Given the description of an element on the screen output the (x, y) to click on. 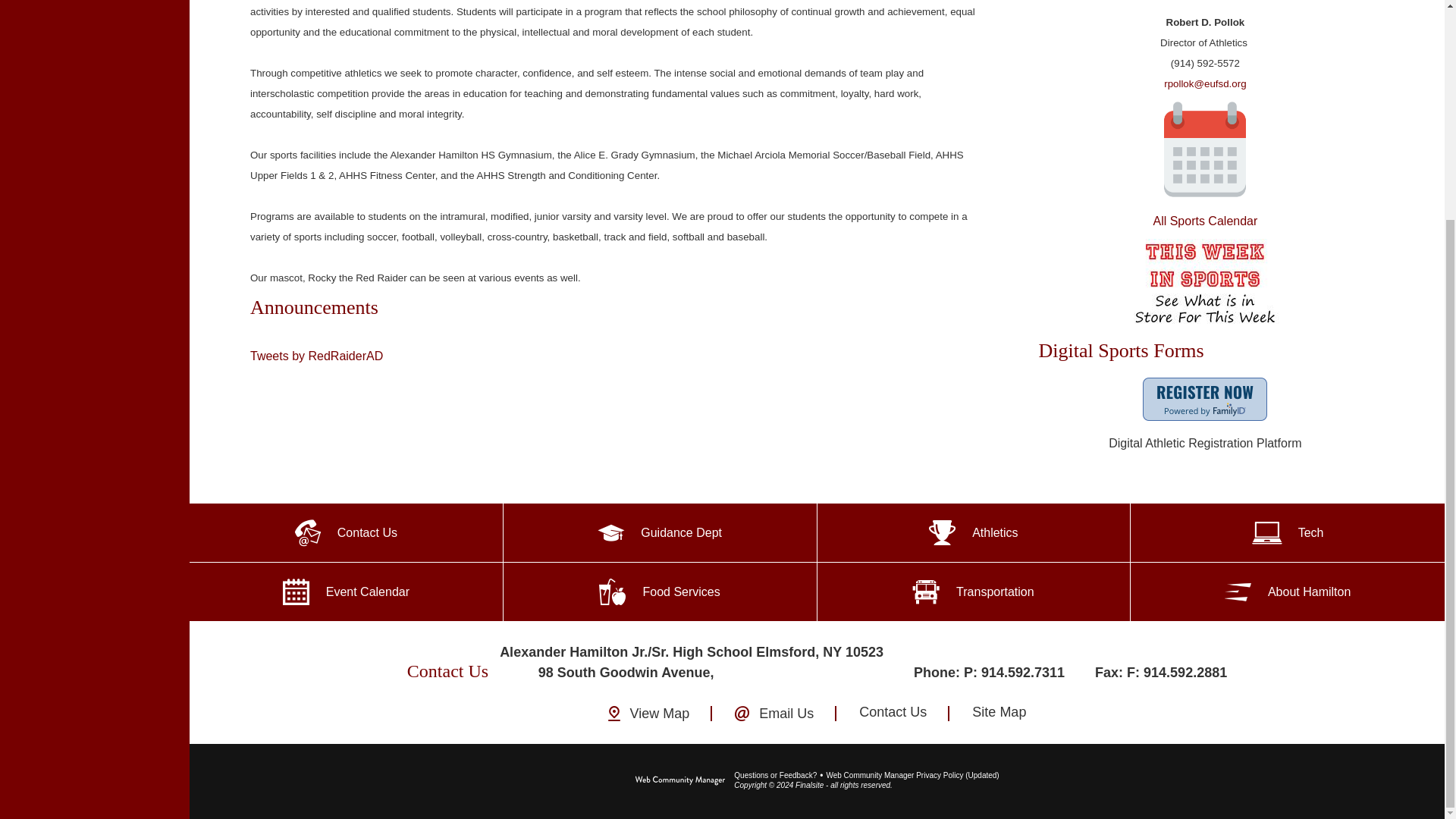
Finalsite - all rights reserved (679, 780)
Click to email the primary contact (774, 775)
This Week In Sports (1204, 285)
Family ID Registration (1204, 398)
